Given the description of an element on the screen output the (x, y) to click on. 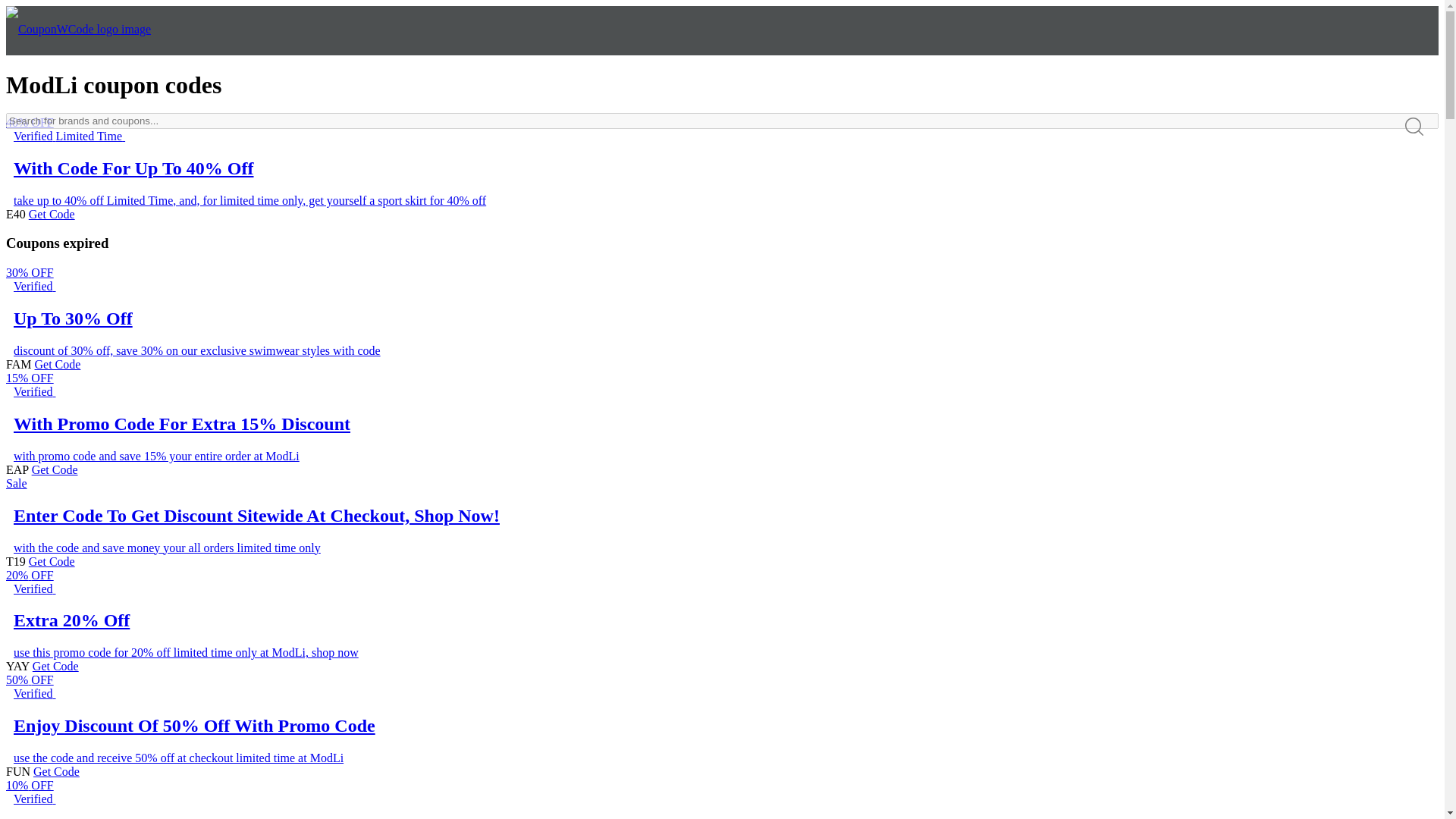
Submit Coupon (59, 77)
Get Code (55, 469)
Get Code (56, 771)
Sale (16, 482)
Get Code (55, 666)
Get Code (52, 561)
Get Code (52, 214)
Get Code (57, 364)
